Given the description of an element on the screen output the (x, y) to click on. 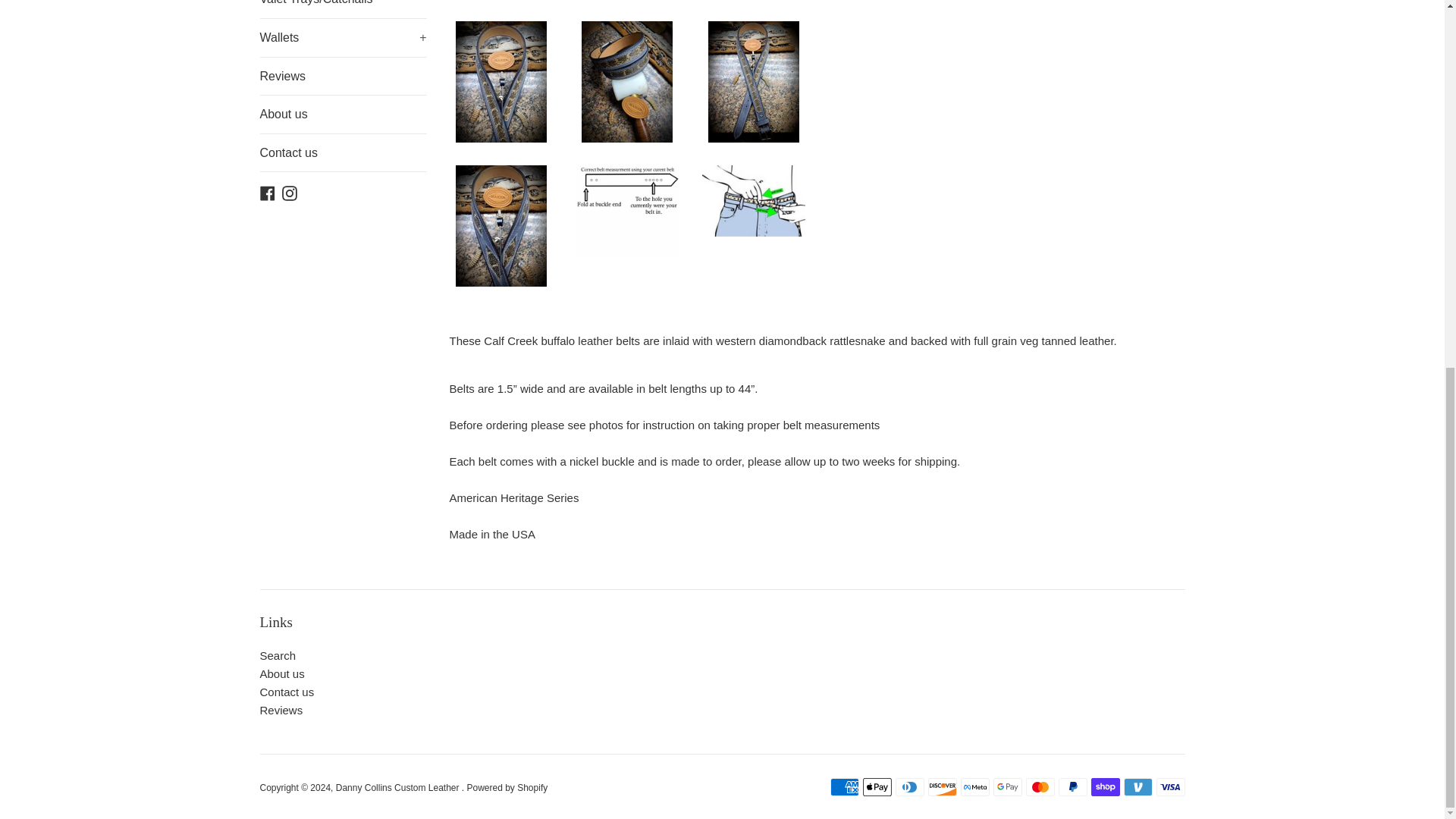
Shop Pay (1104, 787)
About us (342, 114)
Diners Club (909, 787)
Instagram (289, 192)
Contact us (342, 152)
PayPal (1072, 787)
Venmo (1138, 787)
Visa (1170, 787)
Reviews (342, 76)
Mastercard (1039, 787)
Facebook (267, 192)
American Express (844, 787)
Apple Pay (877, 787)
Danny Collins Custom Leather  on Instagram (289, 192)
Meta Pay (973, 787)
